Given the description of an element on the screen output the (x, y) to click on. 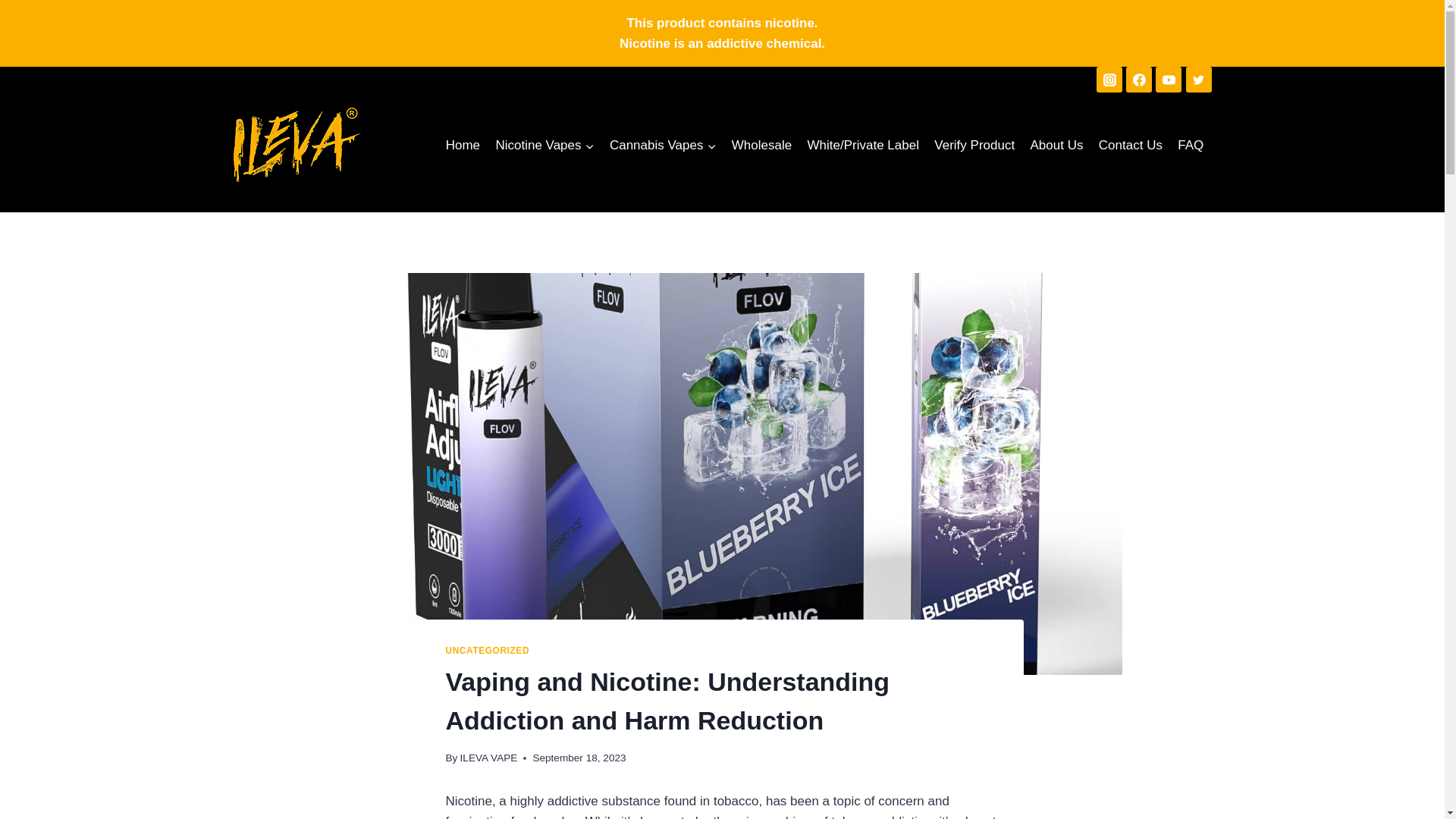
Wholesale (761, 145)
ILEVA VAPE (489, 757)
UNCATEGORIZED (487, 650)
FAQ (1190, 145)
Home (462, 145)
Nicotine Vapes (544, 145)
Verify Product (974, 145)
Contact Us (1130, 145)
About Us (1056, 145)
Cannabis Vapes (662, 145)
